Given the description of an element on the screen output the (x, y) to click on. 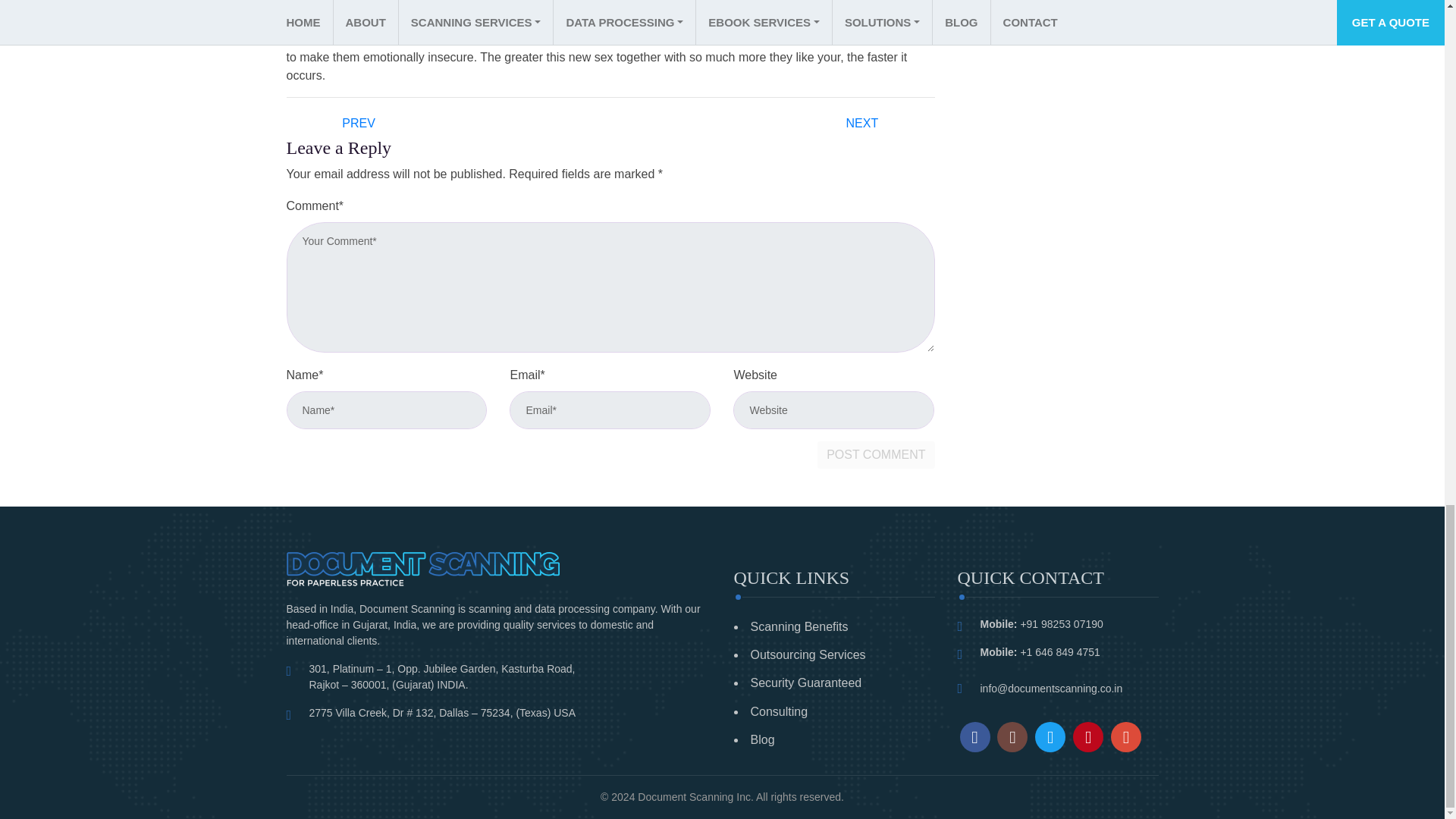
PREV (358, 122)
Post Comment (875, 454)
NEXT (862, 122)
Post Comment (875, 454)
